Given the description of an element on the screen output the (x, y) to click on. 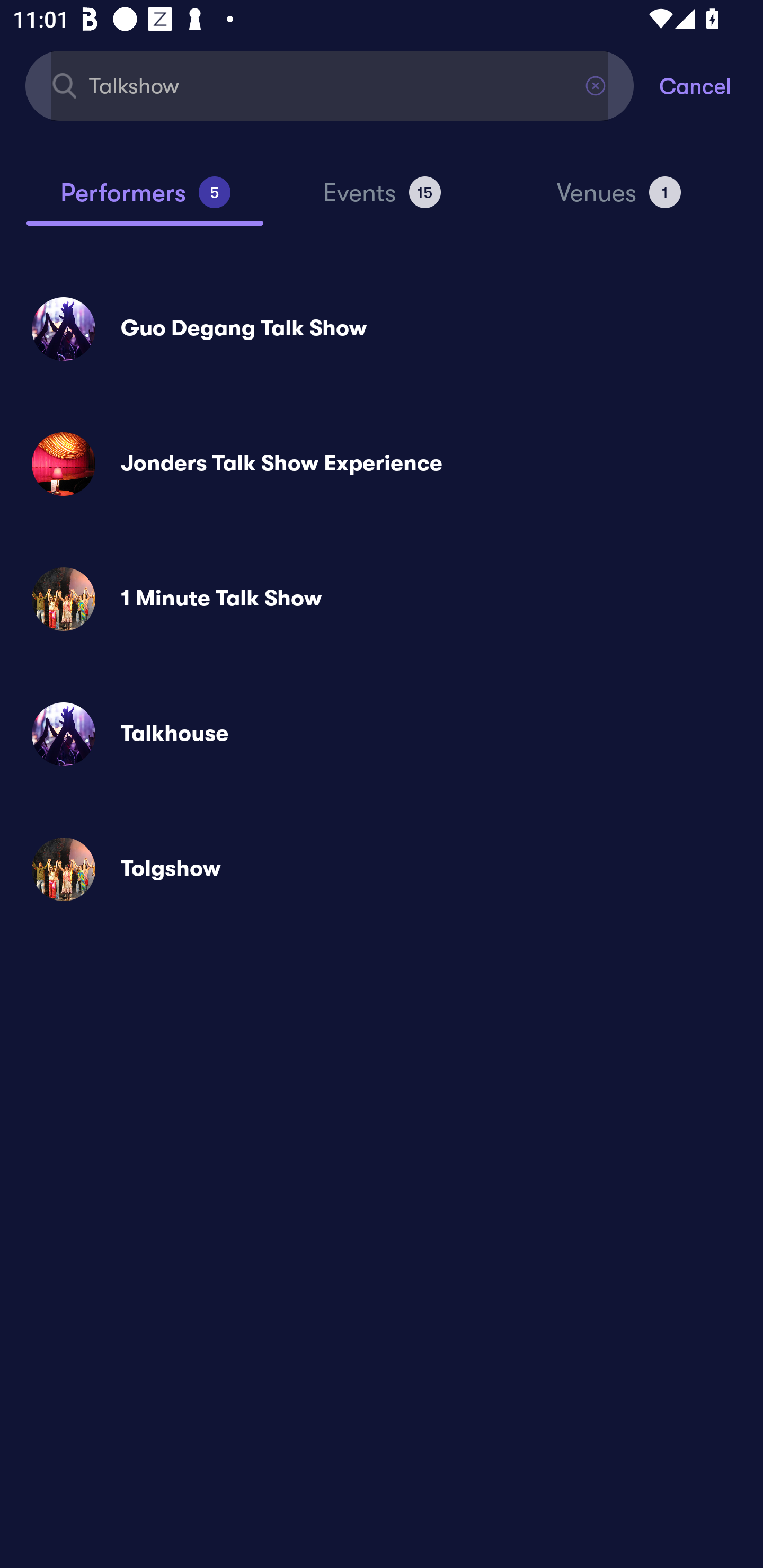
Talkshow Find (329, 85)
Talkshow Find (329, 85)
Cancel (711, 85)
Performers 5 (144, 200)
Events 15 (381, 200)
Venues 1 (618, 200)
Guo Degang Talk Show (381, 328)
Jonders Talk Show Experience (381, 464)
1 Minute Talk Show (381, 598)
Talkhouse (381, 734)
Tolgshow (381, 869)
